Given the description of an element on the screen output the (x, y) to click on. 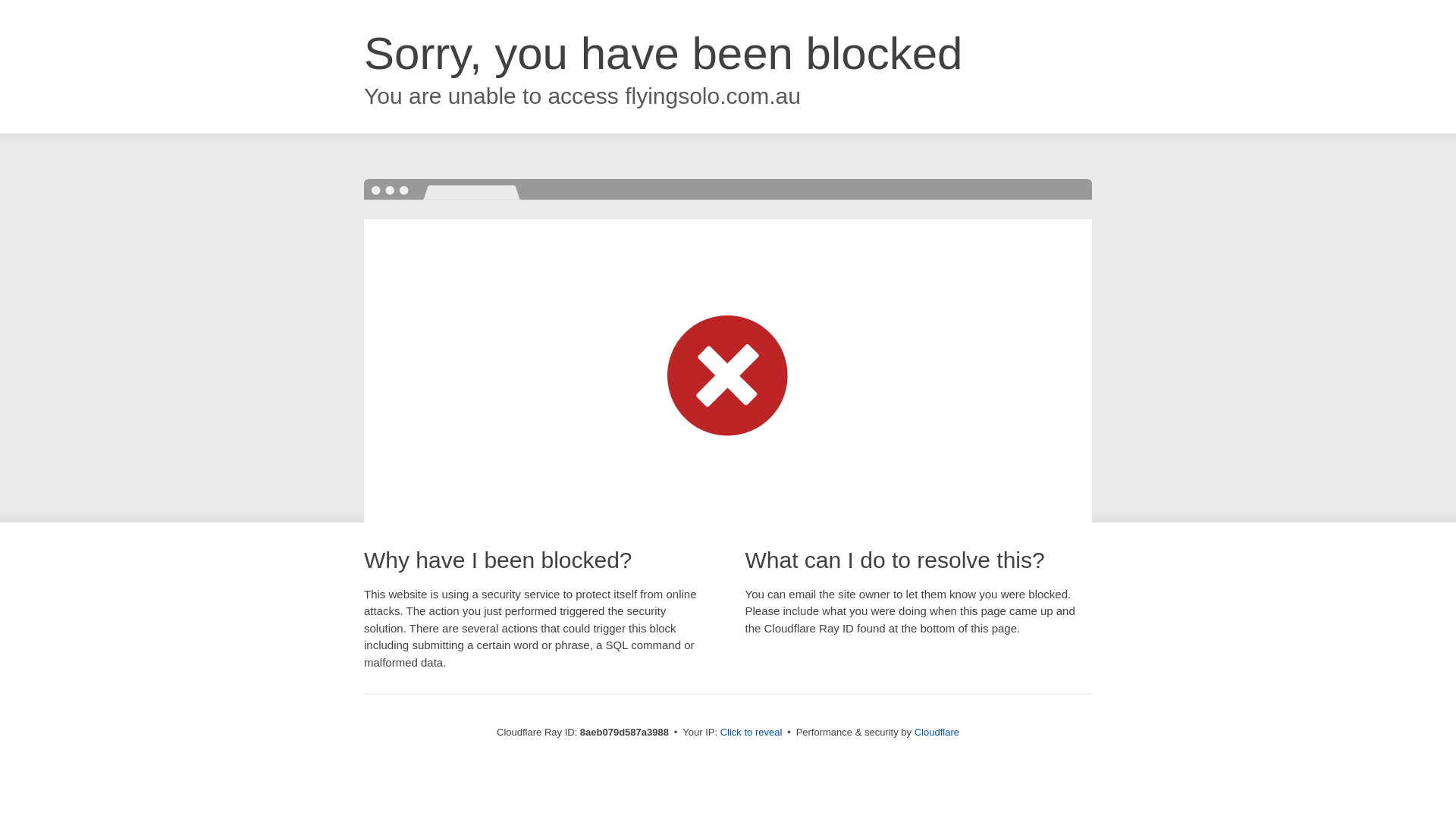
Cloudflare (936, 731)
Click to reveal (751, 732)
